Given the description of an element on the screen output the (x, y) to click on. 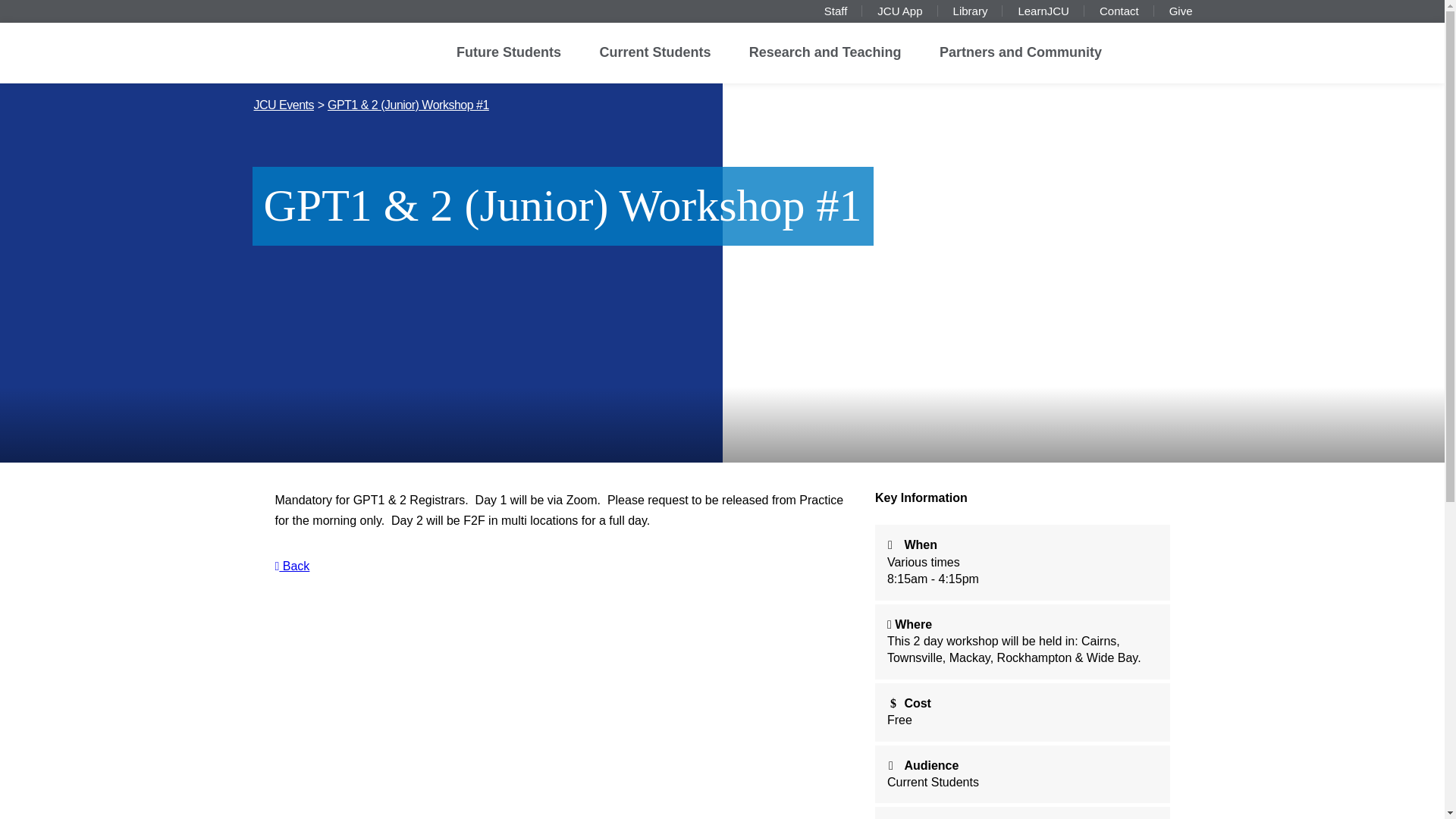
Contact (1118, 10)
Current Students (654, 52)
James Cook University Home (319, 49)
JCU App (899, 10)
Staff (835, 10)
Future Students (508, 52)
LearnJCU (1042, 10)
Give (1180, 10)
JCU Events (283, 105)
Library (970, 10)
